Given the description of an element on the screen output the (x, y) to click on. 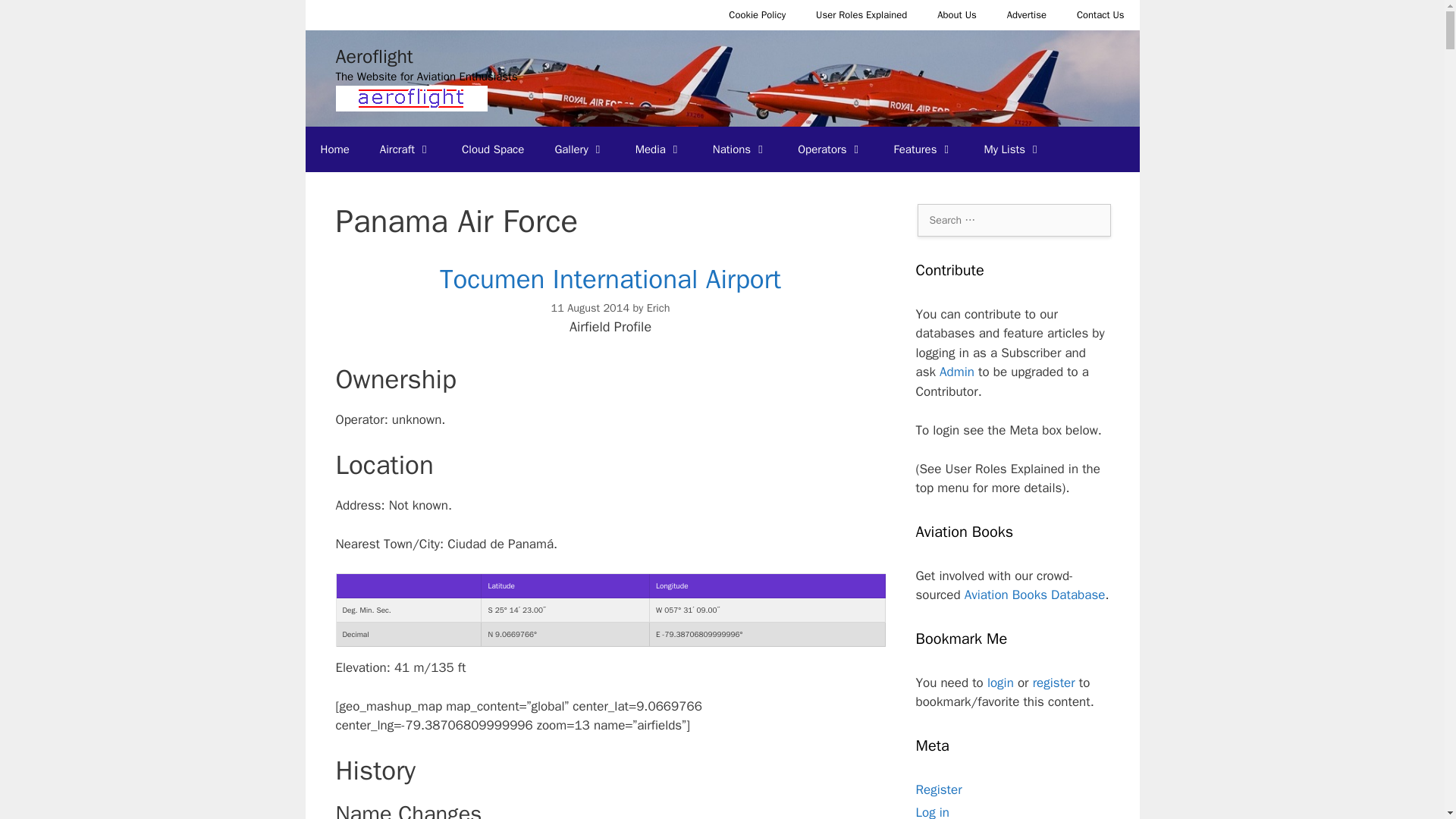
Gallery (579, 148)
Nations (740, 148)
View all posts by Erich (657, 307)
Advertise (1026, 15)
About Us (956, 15)
Media (658, 148)
Cloud Space (492, 148)
Home (334, 148)
Aircraft (405, 148)
Cookie Policy (756, 15)
